Given the description of an element on the screen output the (x, y) to click on. 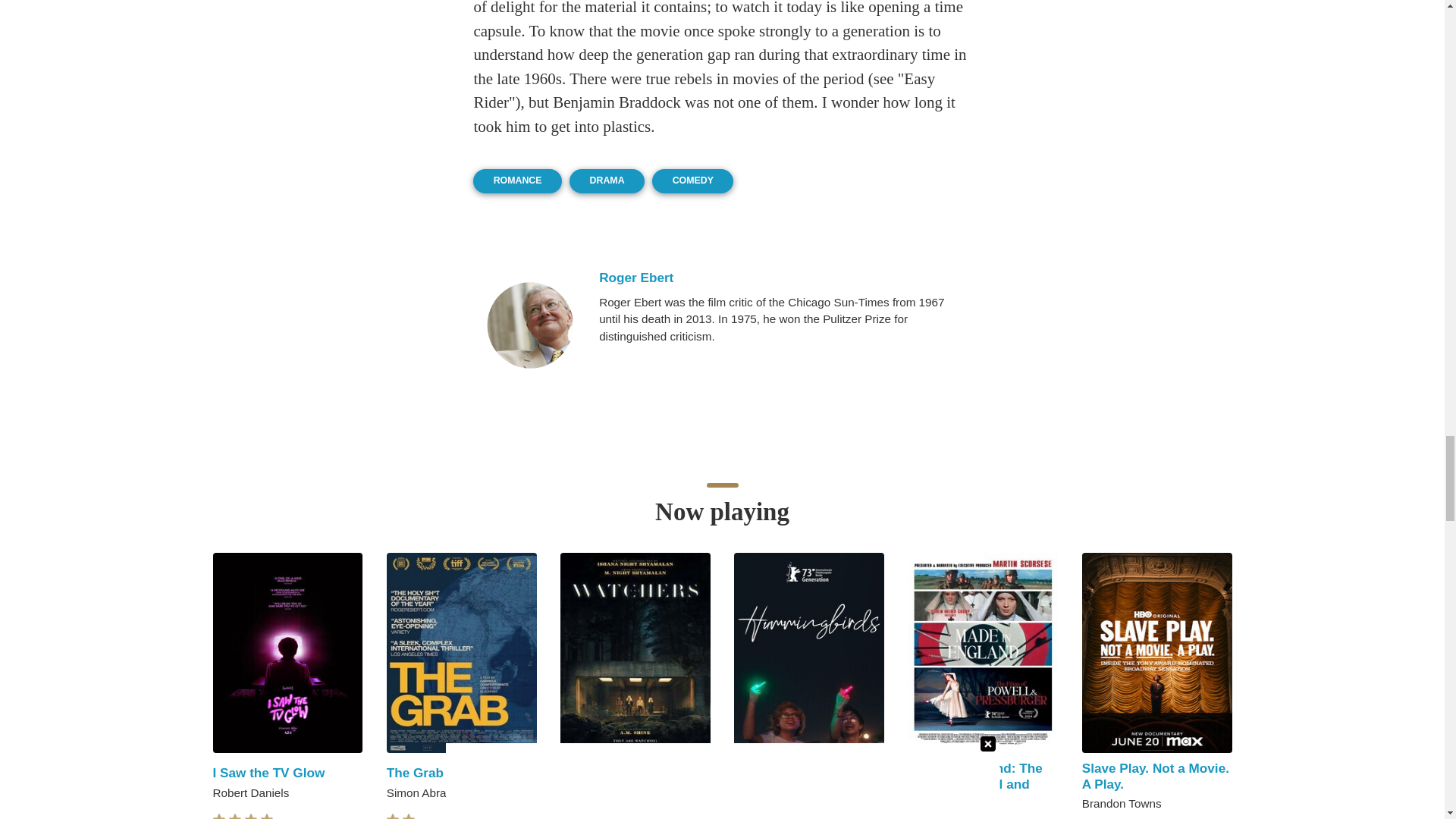
Made in England: The Films of Powell and Pressburger (975, 783)
I Saw the TV Glow (268, 772)
DRAMA (606, 180)
Roger Ebert (782, 277)
ROMANCE (517, 180)
star-full (234, 816)
star-full (218, 816)
COMEDY (692, 180)
Roger Ebert (529, 324)
Hummingbirds (779, 772)
The Grab (415, 772)
Slave Play. Not a Movie. A Play. (1154, 775)
star-full (250, 816)
The Watchers (602, 772)
